Given the description of an element on the screen output the (x, y) to click on. 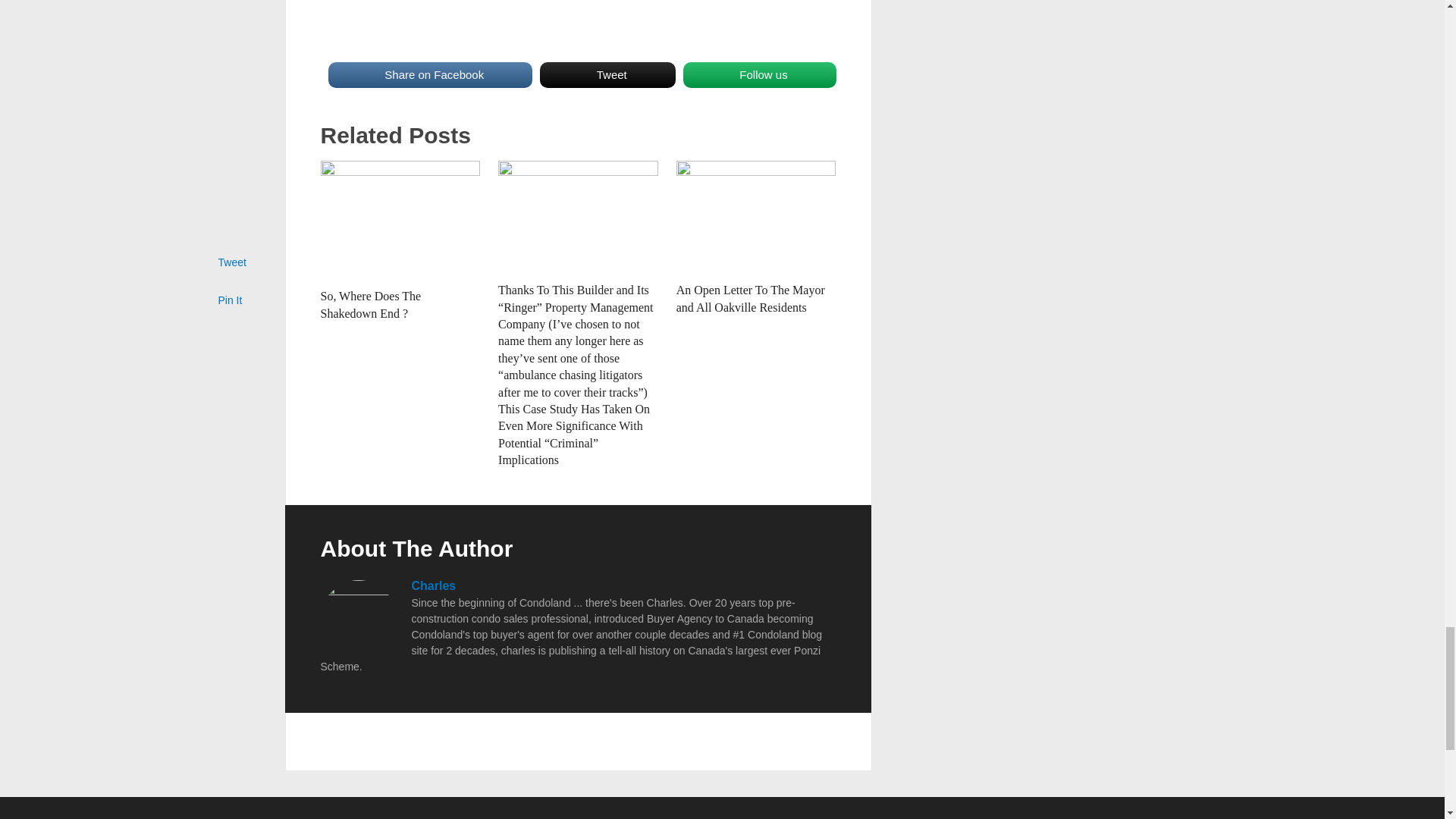
Share on Facebook (429, 74)
Charles (432, 585)
So, Where Does The Shakedown End ? (370, 304)
So, Where Does The Shakedown End ? (370, 304)
So, Where Does The Shakedown End ? (400, 220)
An Open Letter To The Mayor and All Oakville Residents (751, 297)
An Open Letter To The Mayor and All Oakville Residents (751, 297)
Tweet (607, 74)
Follow us (758, 74)
An Open Letter To The Mayor and All Oakville Residents (756, 217)
